Given the description of an element on the screen output the (x, y) to click on. 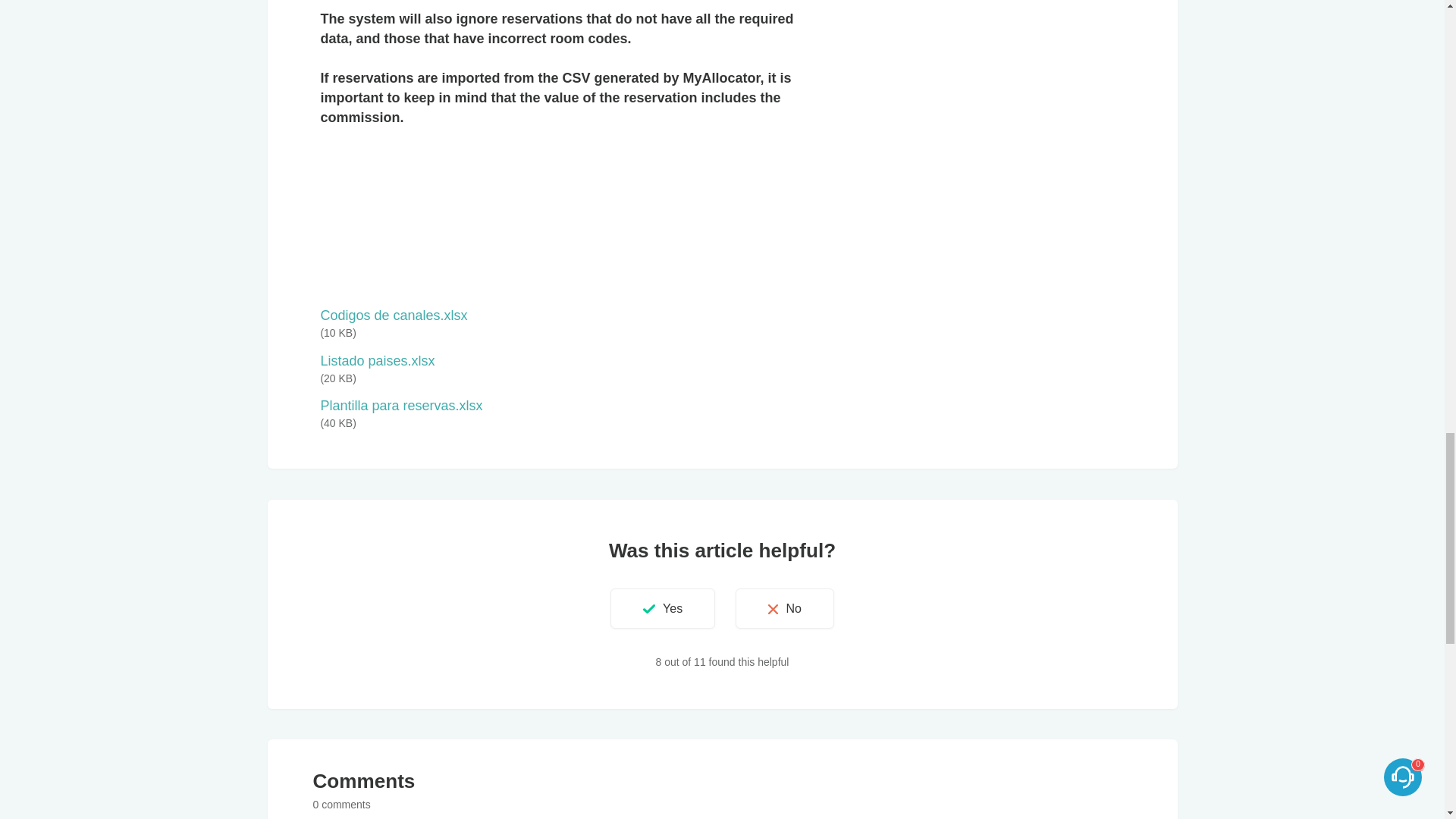
No (784, 608)
Codigos de canales.xlsx (393, 314)
Plantilla para reservas.xlsx (400, 405)
Listado paises.xlsx (376, 360)
Yes (662, 608)
